Given the description of an element on the screen output the (x, y) to click on. 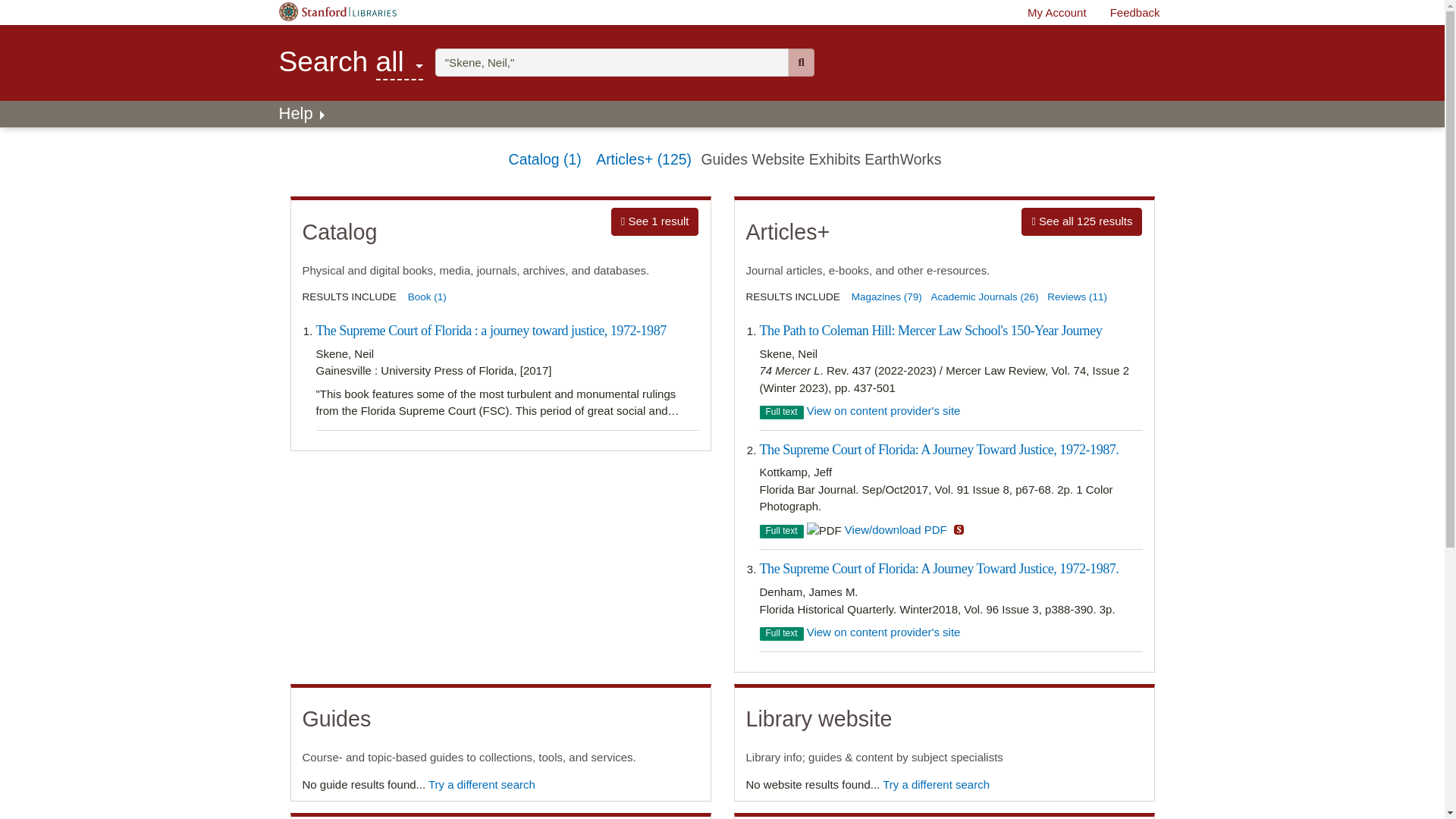
"Skene, Neil," (612, 62)
Search (399, 60)
Skip to main content (800, 62)
"Skene, Neil," (1081, 221)
View on content provider's site (612, 62)
Try a different search (936, 784)
